Given the description of an element on the screen output the (x, y) to click on. 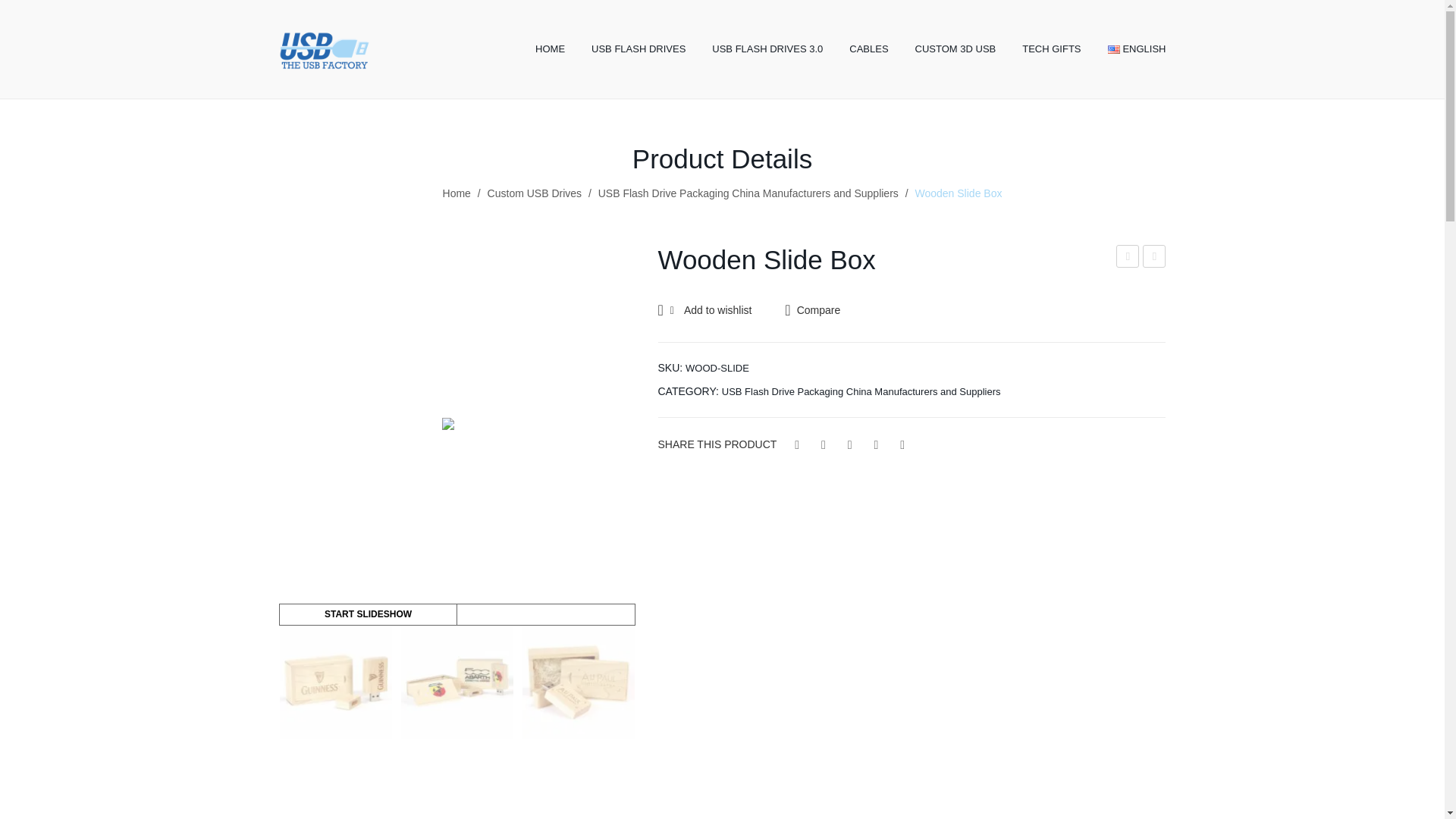
USB FLASH DRIVES 3.0 (766, 49)
The USB Factory In China (324, 48)
USB FLASH DRIVES (638, 49)
